Given the description of an element on the screen output the (x, y) to click on. 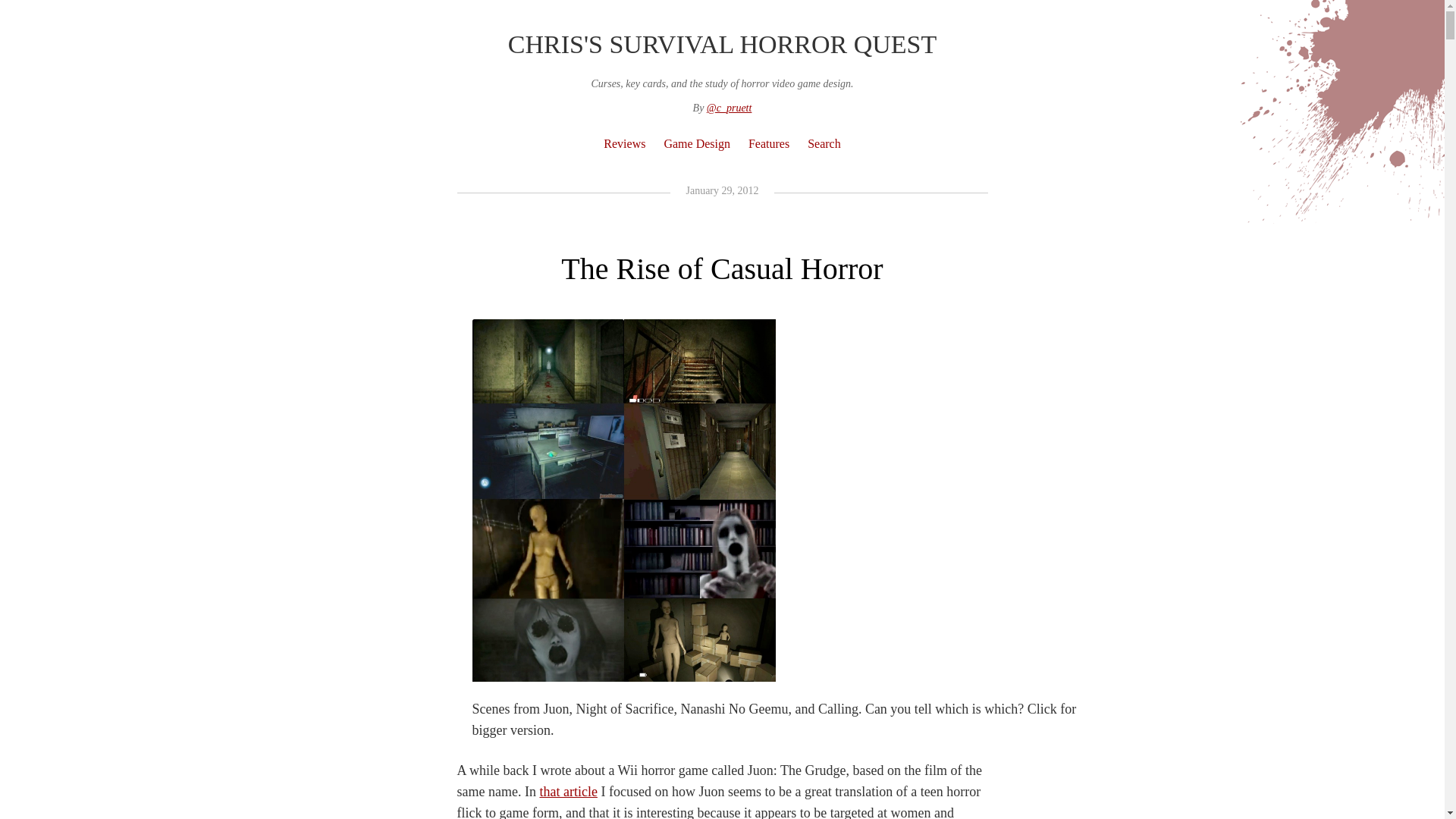
Permalink to The Rise of Casual Horror (721, 268)
Features (768, 143)
CHRIS'S SURVIVAL HORROR QUEST (722, 44)
Search (823, 143)
Reviews (623, 143)
1:47 am (721, 190)
Game Design (697, 143)
January 29, 2012 (721, 190)
The Rise of Casual Horror (721, 268)
that article (567, 791)
Chris's Survival Horror Quest (722, 44)
